Given the description of an element on the screen output the (x, y) to click on. 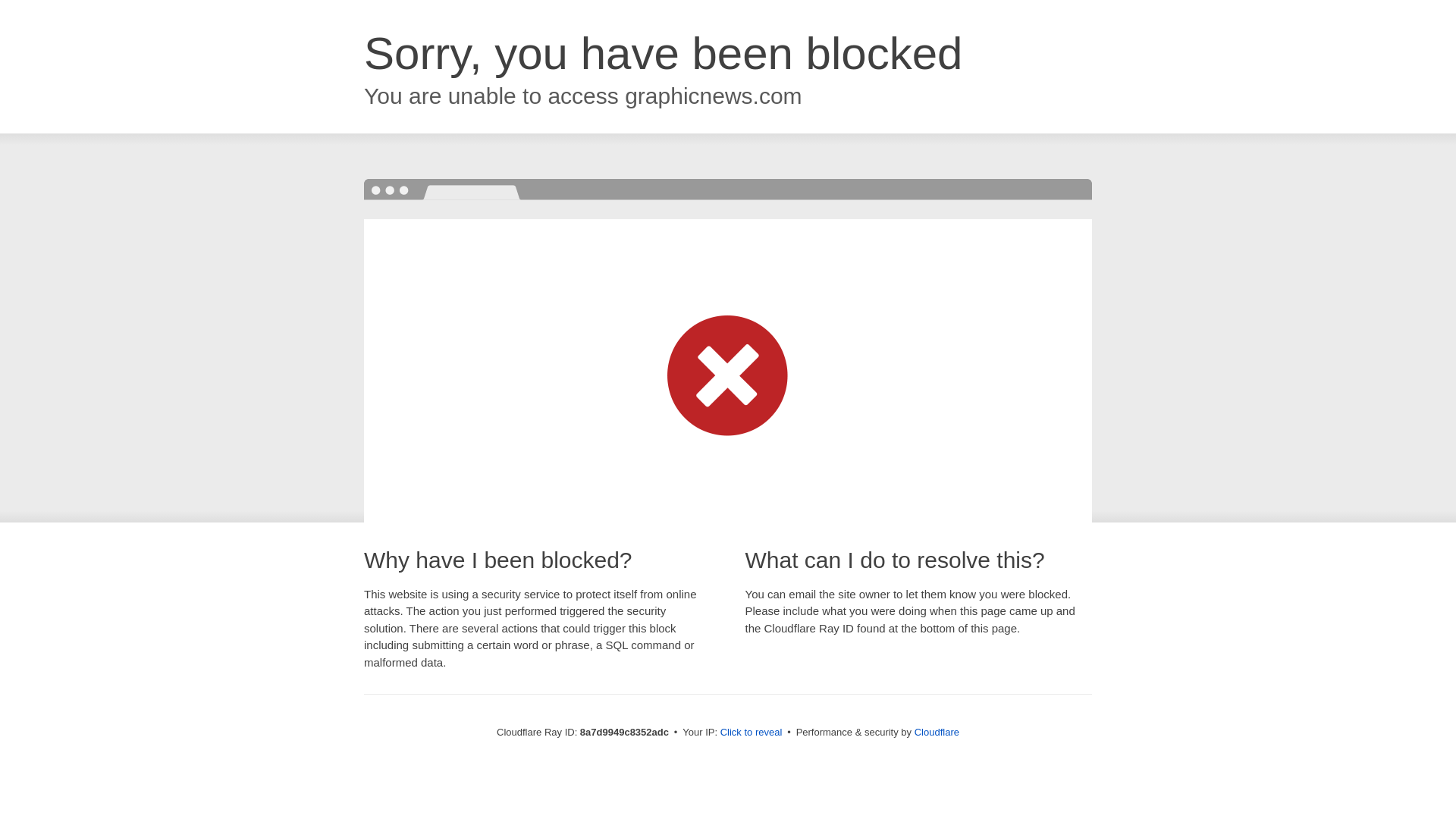
Cloudflare (936, 731)
Click to reveal (751, 732)
